Given the description of an element on the screen output the (x, y) to click on. 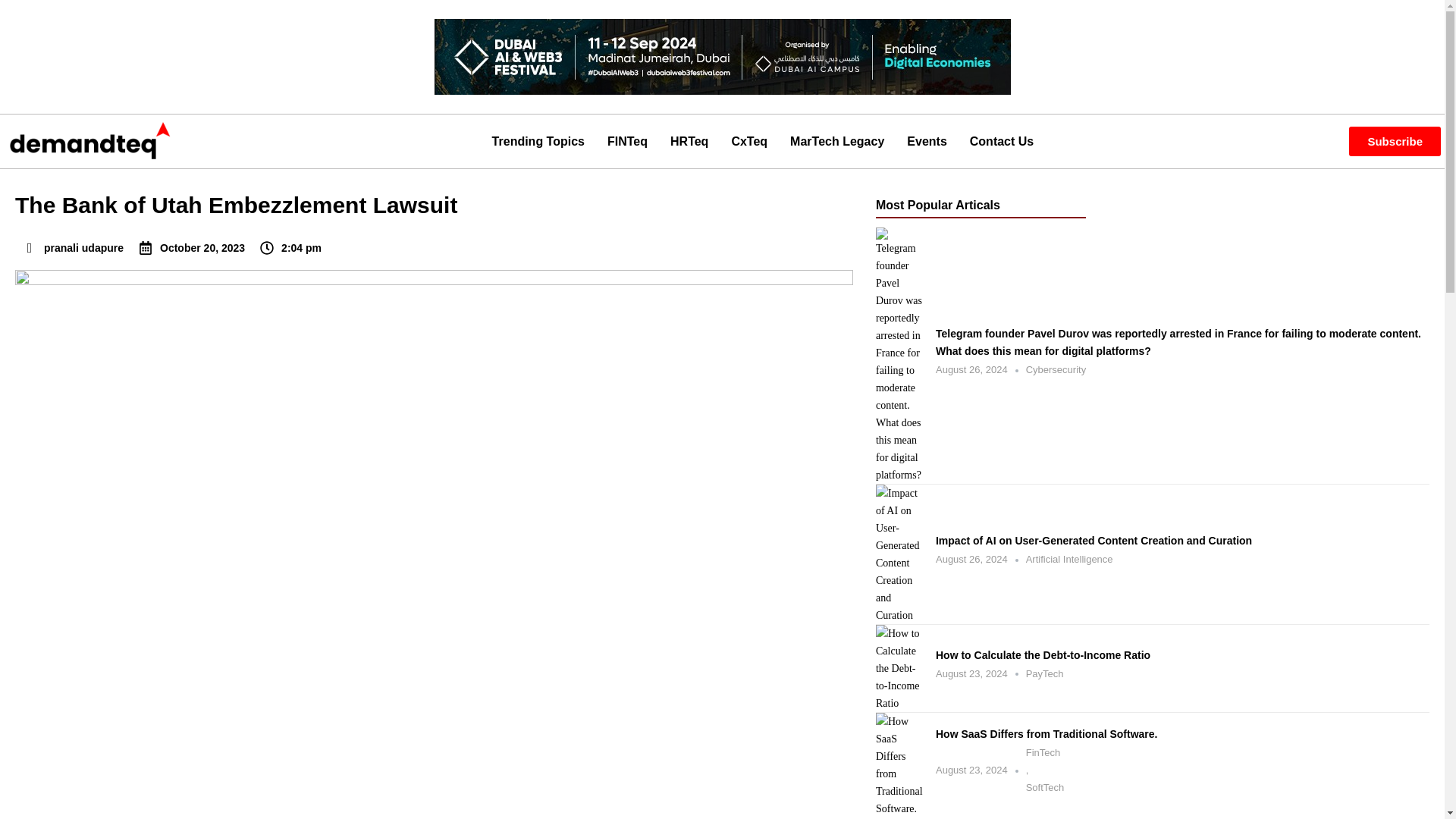
FINTeq (627, 140)
Impact of AI on User-Generated Content Creation and Curation (1182, 541)
CxTeq (748, 140)
Events (926, 140)
Trending Topics (537, 140)
MarTech Legacy (836, 140)
How SaaS Differs from Traditional Software. (1182, 734)
How to Calculate the Debt-to-Income Ratio (1182, 656)
Contact Us (1001, 140)
